Given the description of an element on the screen output the (x, y) to click on. 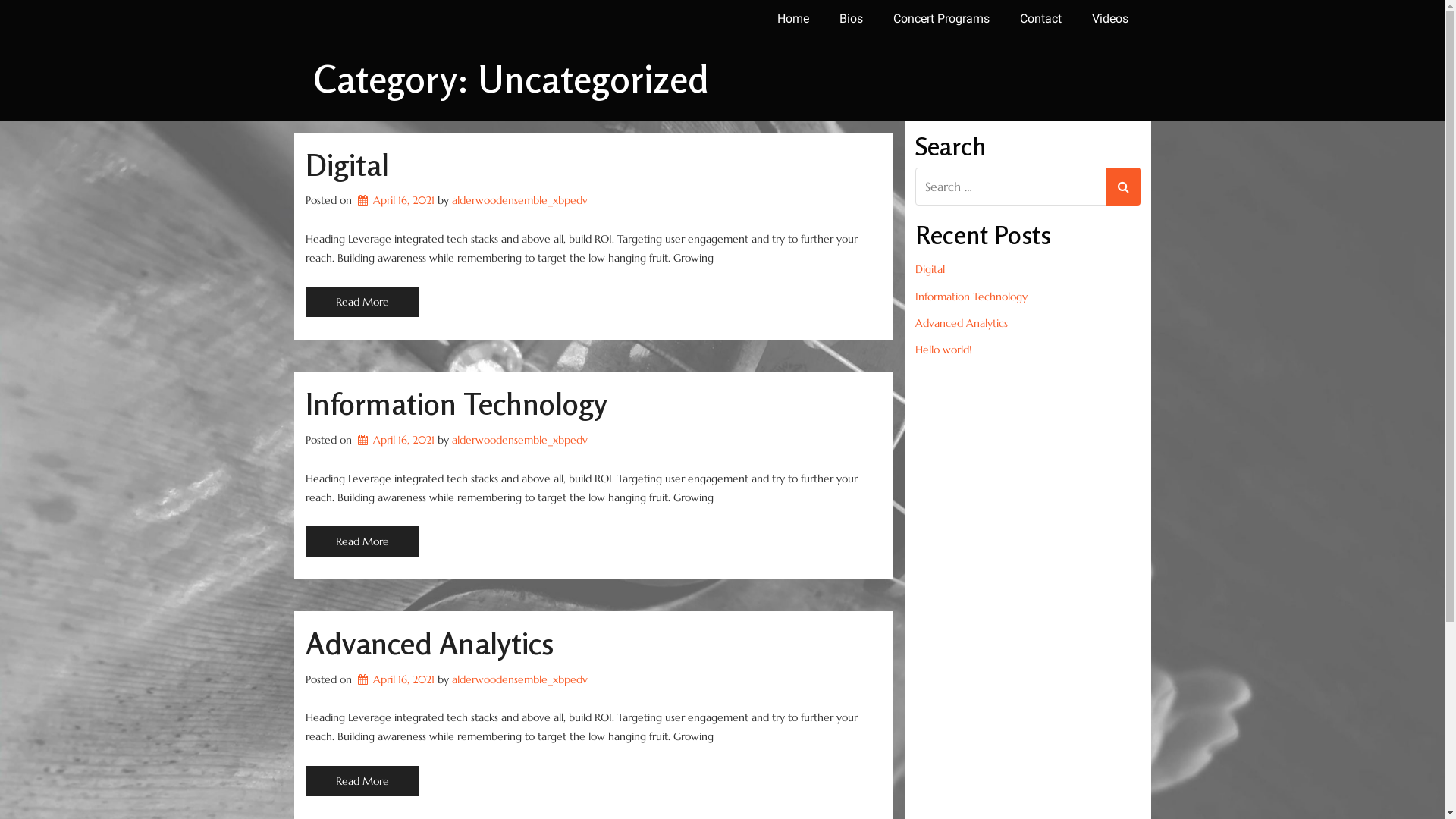
alderwoodensemble_xbpedv Element type: text (519, 439)
alderwoodensemble_xbpedv Element type: text (519, 200)
Home Element type: text (792, 18)
Read More Element type: text (361, 541)
Read More Element type: text (361, 301)
Videos Element type: text (1109, 18)
Bios Element type: text (850, 18)
Digital Element type: text (1026, 269)
April 16, 2021 Element type: text (394, 200)
Contact Element type: text (1040, 18)
Read More Element type: text (361, 780)
Category: Uncategorized Element type: text (510, 78)
Information Technology Element type: text (1026, 296)
Concert Programs Element type: text (941, 18)
alderwoodensemble_xbpedv Element type: text (519, 679)
Hello world! Element type: text (1026, 349)
Digital Element type: text (346, 164)
Advanced Analytics Element type: text (1026, 322)
Advanced Analytics Element type: text (428, 642)
April 16, 2021 Element type: text (394, 679)
Information Technology Element type: text (455, 403)
April 16, 2021 Element type: text (394, 439)
